Given the description of an element on the screen output the (x, y) to click on. 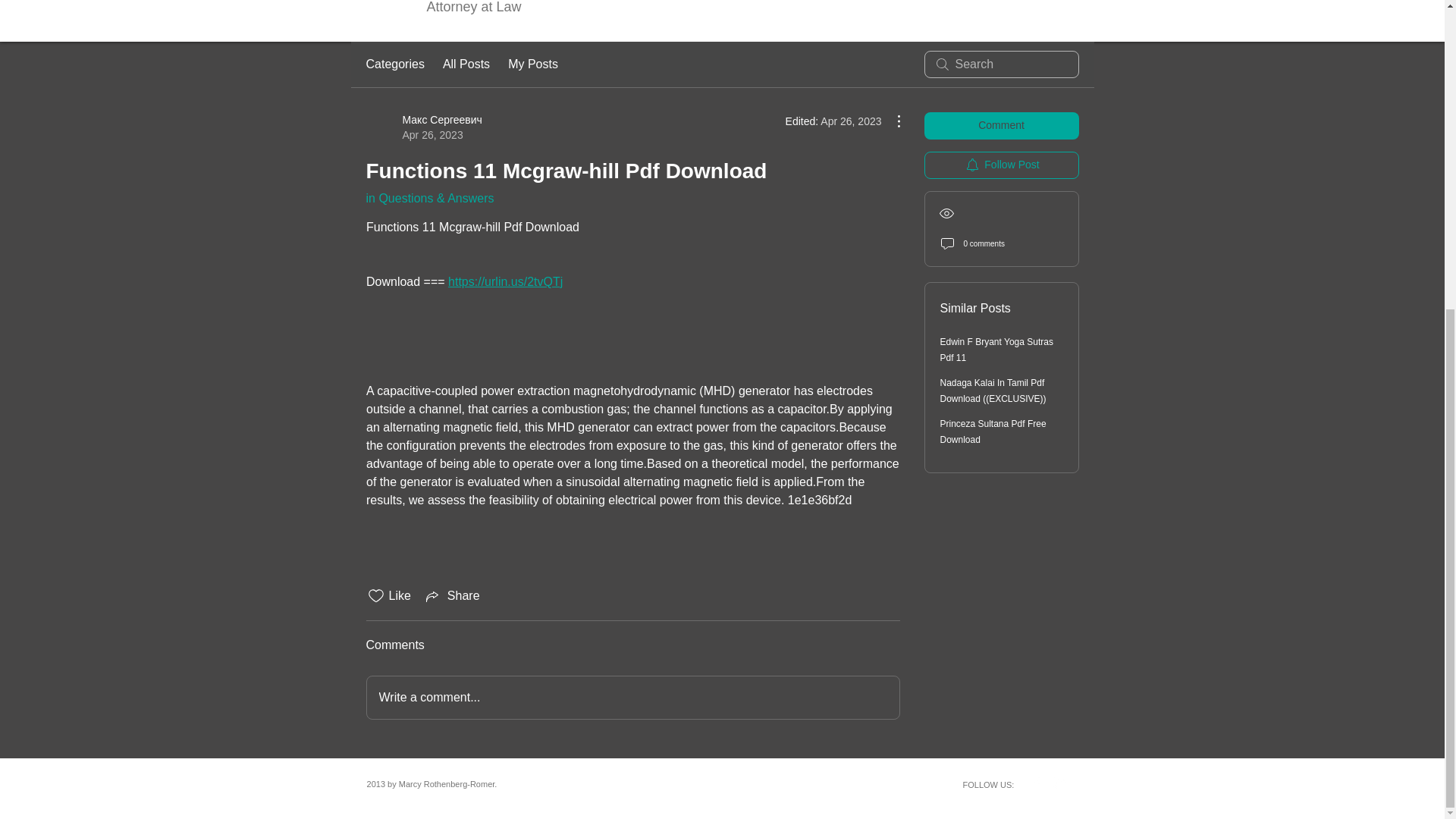
Categories (394, 64)
Princeza Sultana Pdf Free Download (993, 431)
Comment (1000, 125)
Edwin F Bryant Yoga Sutras Pdf 11 (996, 349)
My Posts (532, 64)
Share (451, 596)
Write a comment... (632, 697)
All Posts (465, 64)
Follow Post (1000, 165)
